Given the description of an element on the screen output the (x, y) to click on. 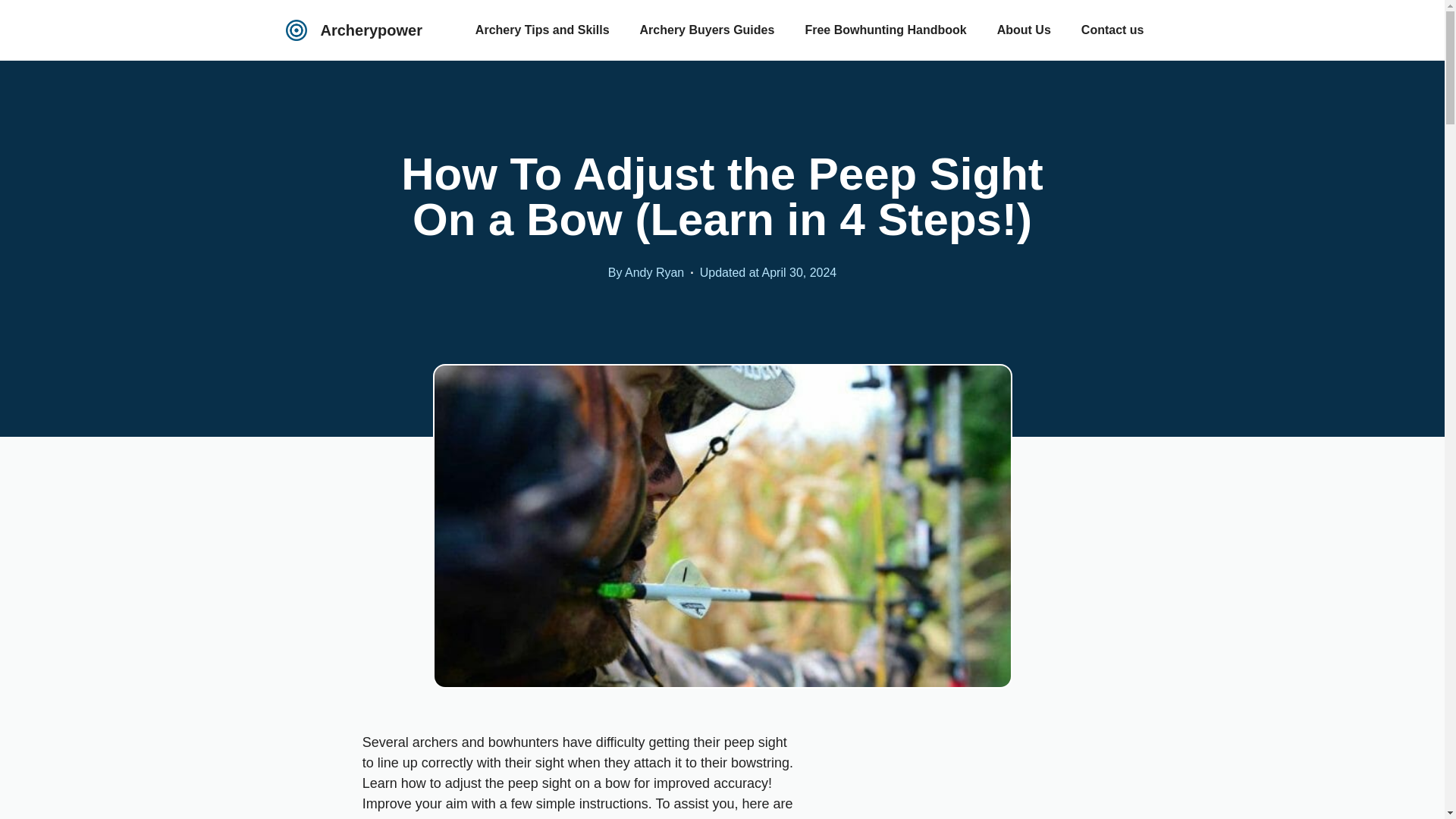
Archerypower (371, 30)
About Us (1023, 30)
Free Bowhunting Handbook (885, 30)
Contact us (1111, 30)
Archery Buyers Guides (707, 30)
Archery Tips and Skills (542, 30)
